Given the description of an element on the screen output the (x, y) to click on. 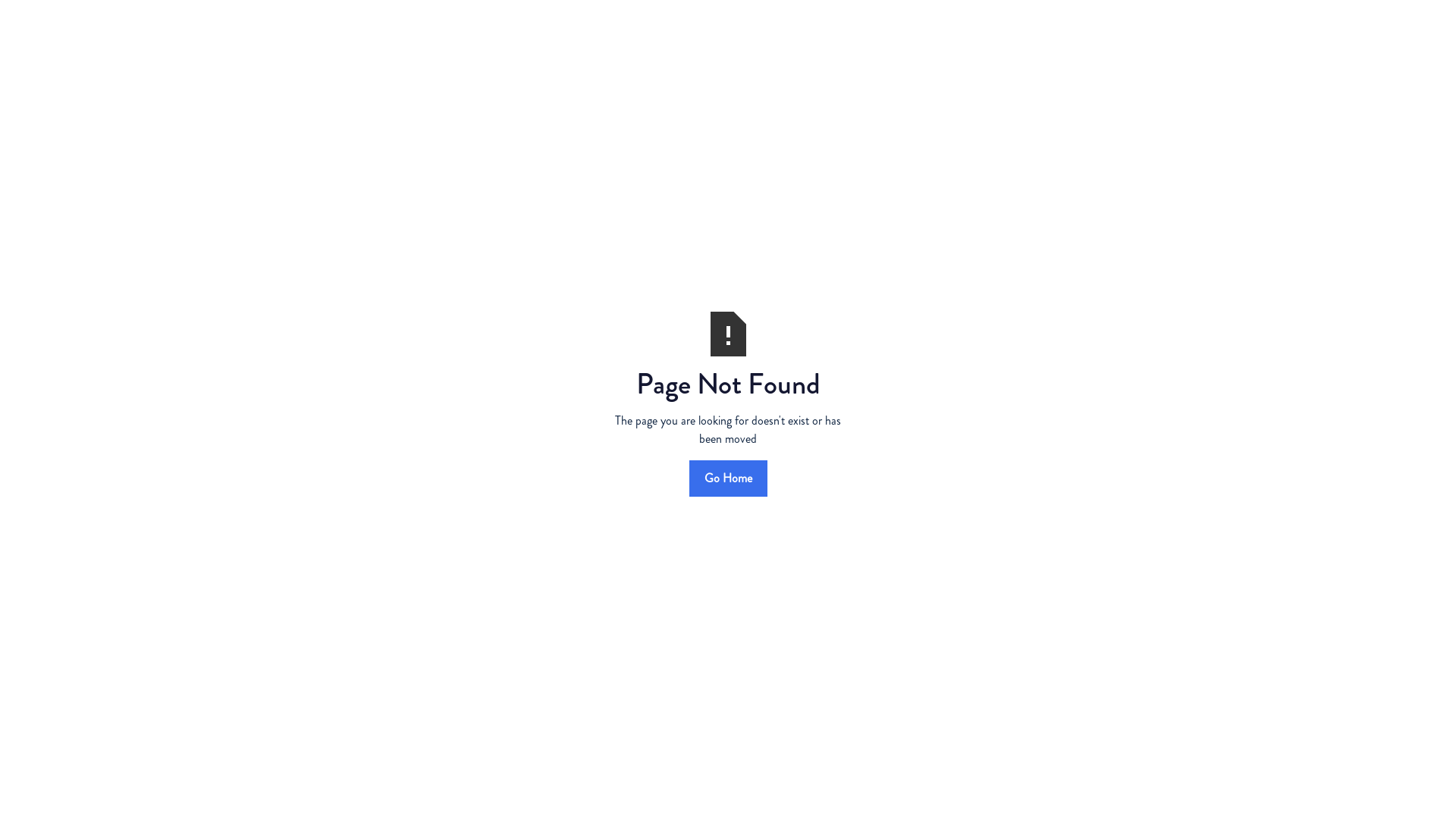
Go Home Element type: text (727, 477)
